Given the description of an element on the screen output the (x, y) to click on. 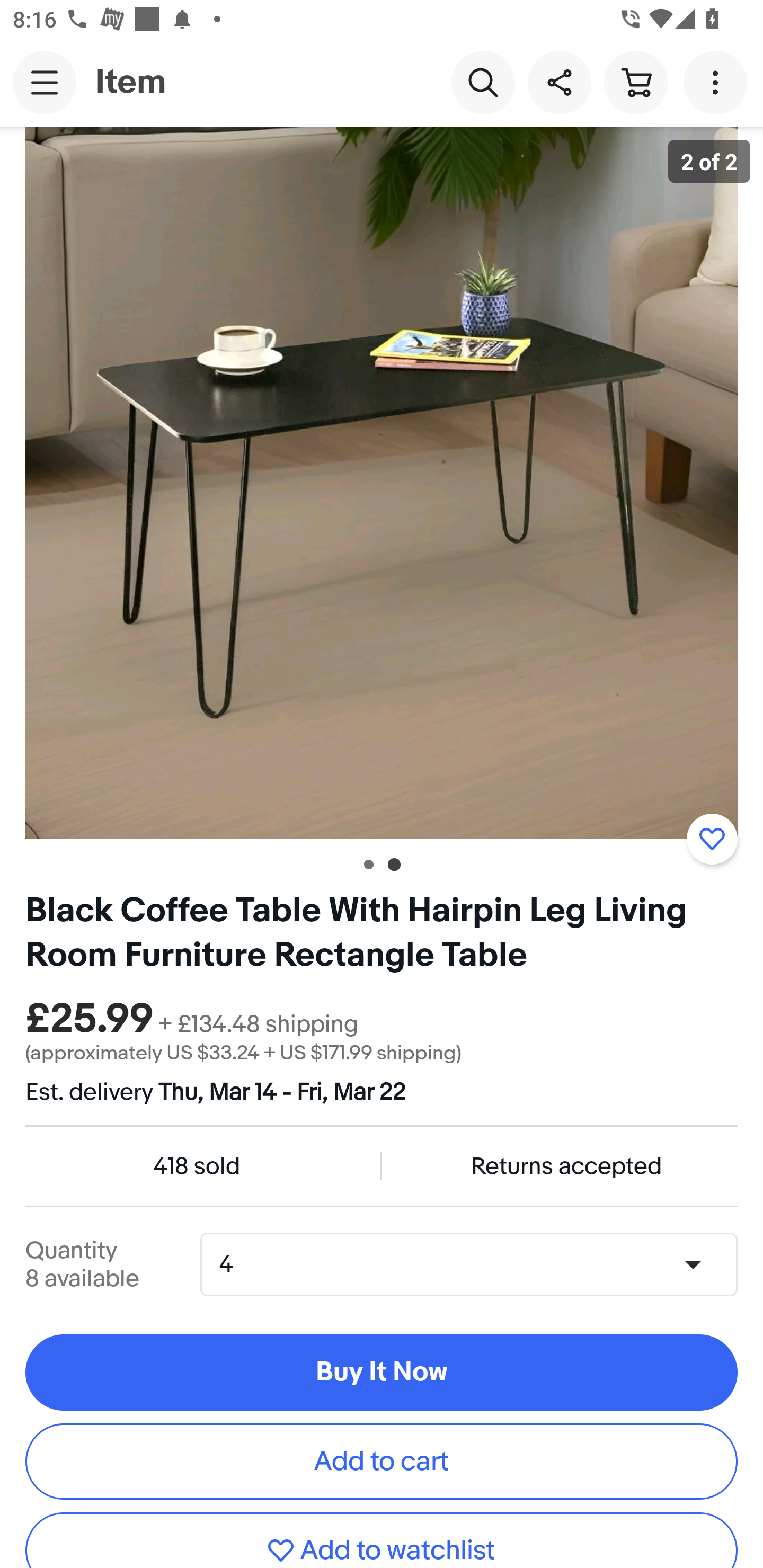
Main navigation, open (44, 82)
Search (482, 81)
Share this item (559, 81)
Cart button shopping cart (635, 81)
More options (718, 81)
Item image 2 of 2 (381, 482)
Add to watchlist (711, 838)
Quantity,4,8 available 4 (474, 1264)
Buy It Now (381, 1372)
Add to cart (381, 1461)
Add to watchlist (381, 1540)
